Given the description of an element on the screen output the (x, y) to click on. 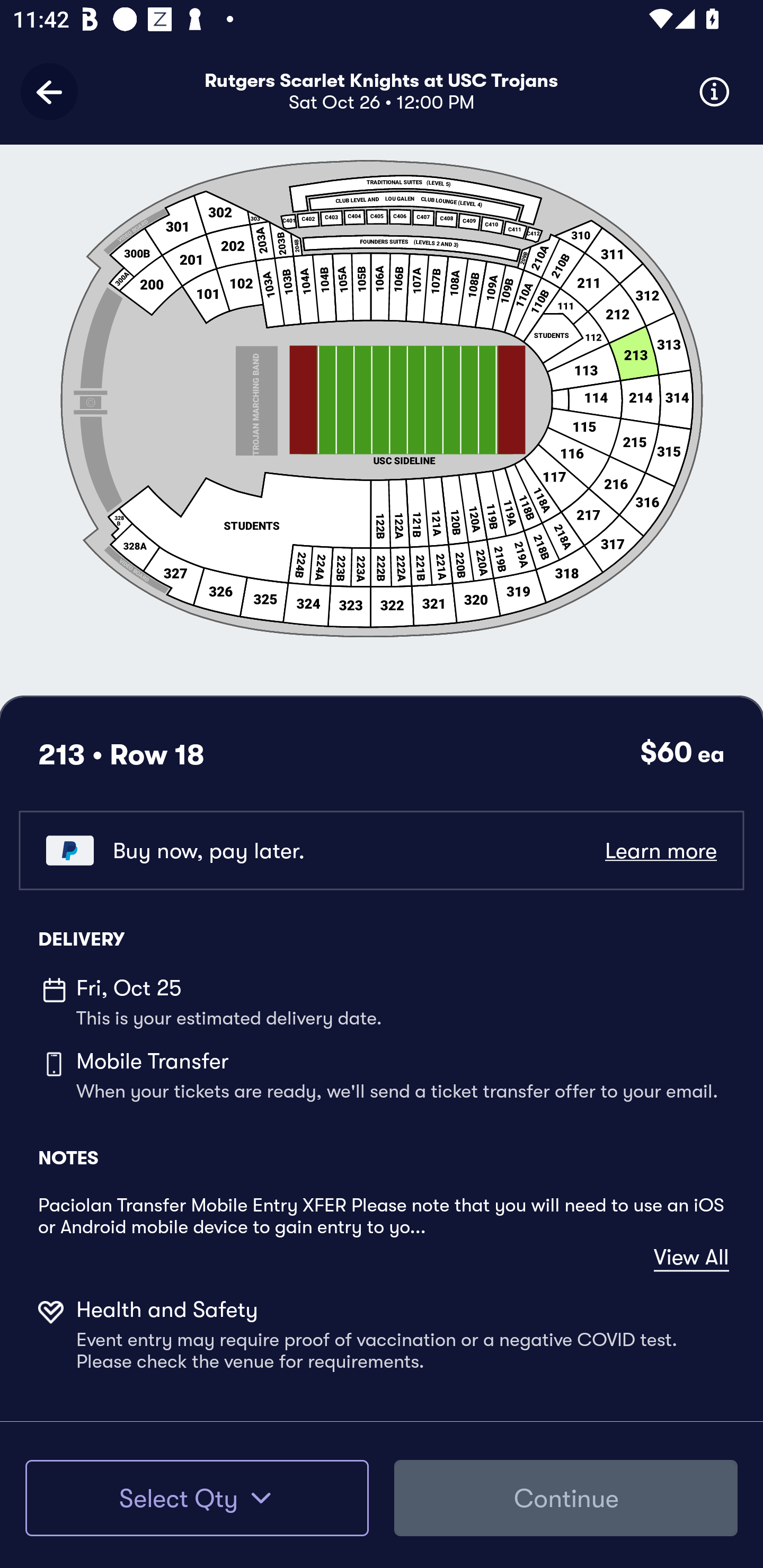
Learn more (660, 850)
View All (691, 1257)
Select Qty (196, 1497)
Continue (565, 1497)
